Given the description of an element on the screen output the (x, y) to click on. 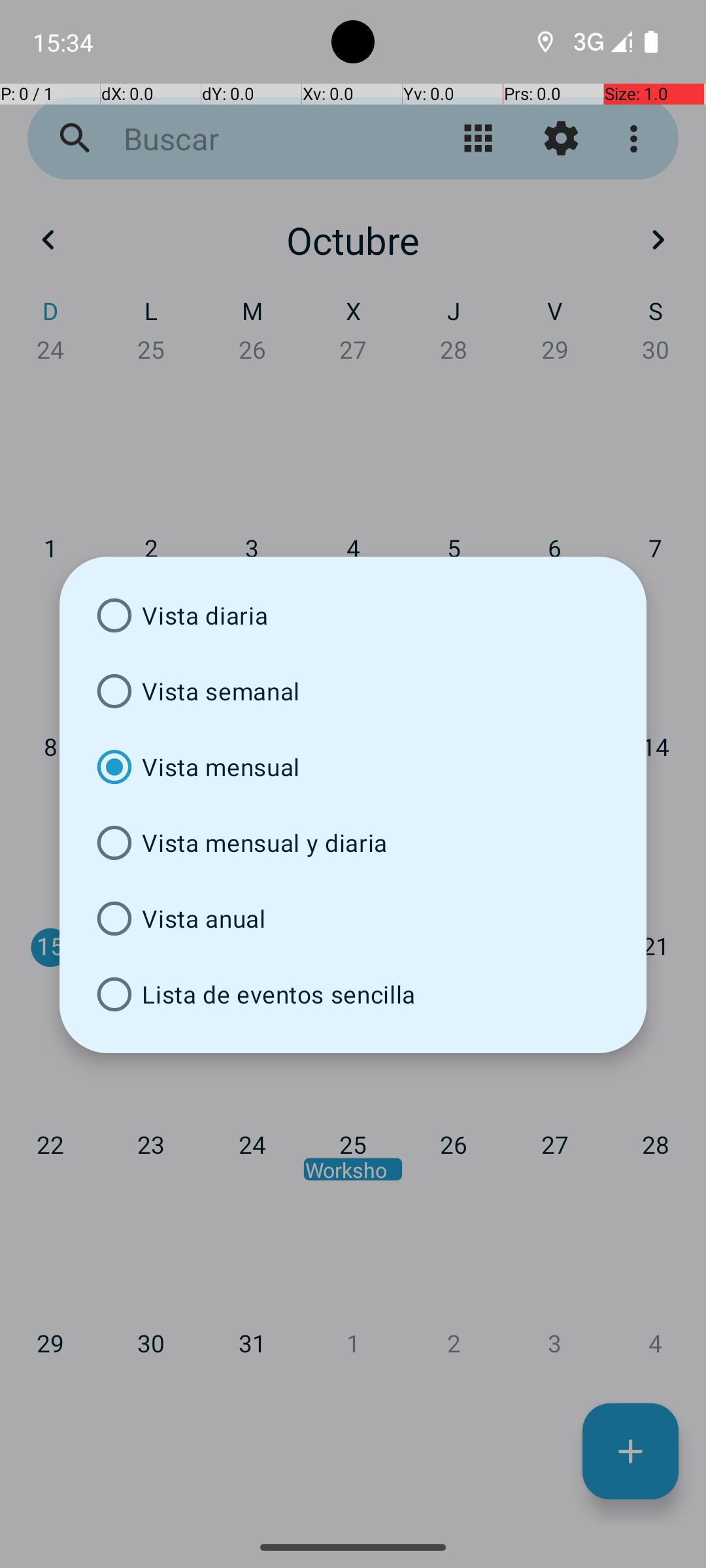
Vista diaria Element type: android.widget.RadioButton (352, 615)
Vista semanal Element type: android.widget.RadioButton (352, 691)
Vista mensual Element type: android.widget.RadioButton (352, 766)
Vista mensual y diaria Element type: android.widget.RadioButton (352, 842)
Vista anual Element type: android.widget.RadioButton (352, 918)
Lista de eventos sencilla Element type: android.widget.RadioButton (352, 994)
